Given the description of an element on the screen output the (x, y) to click on. 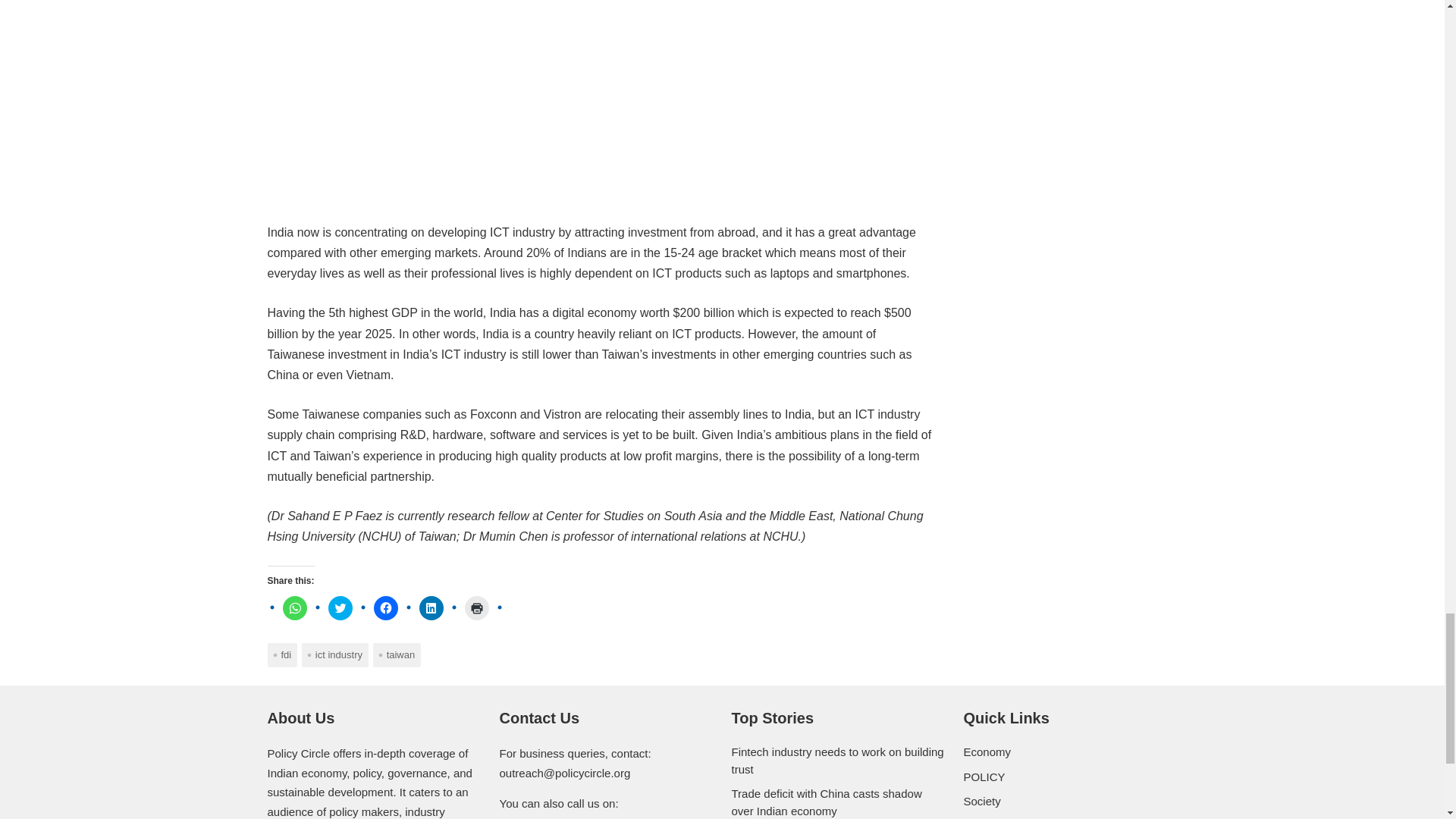
Click to print (475, 607)
Click to share on LinkedIn (430, 607)
Click to share on Twitter (339, 607)
Click to share on Facebook (384, 607)
Click to share on WhatsApp (293, 607)
